Given the description of an element on the screen output the (x, y) to click on. 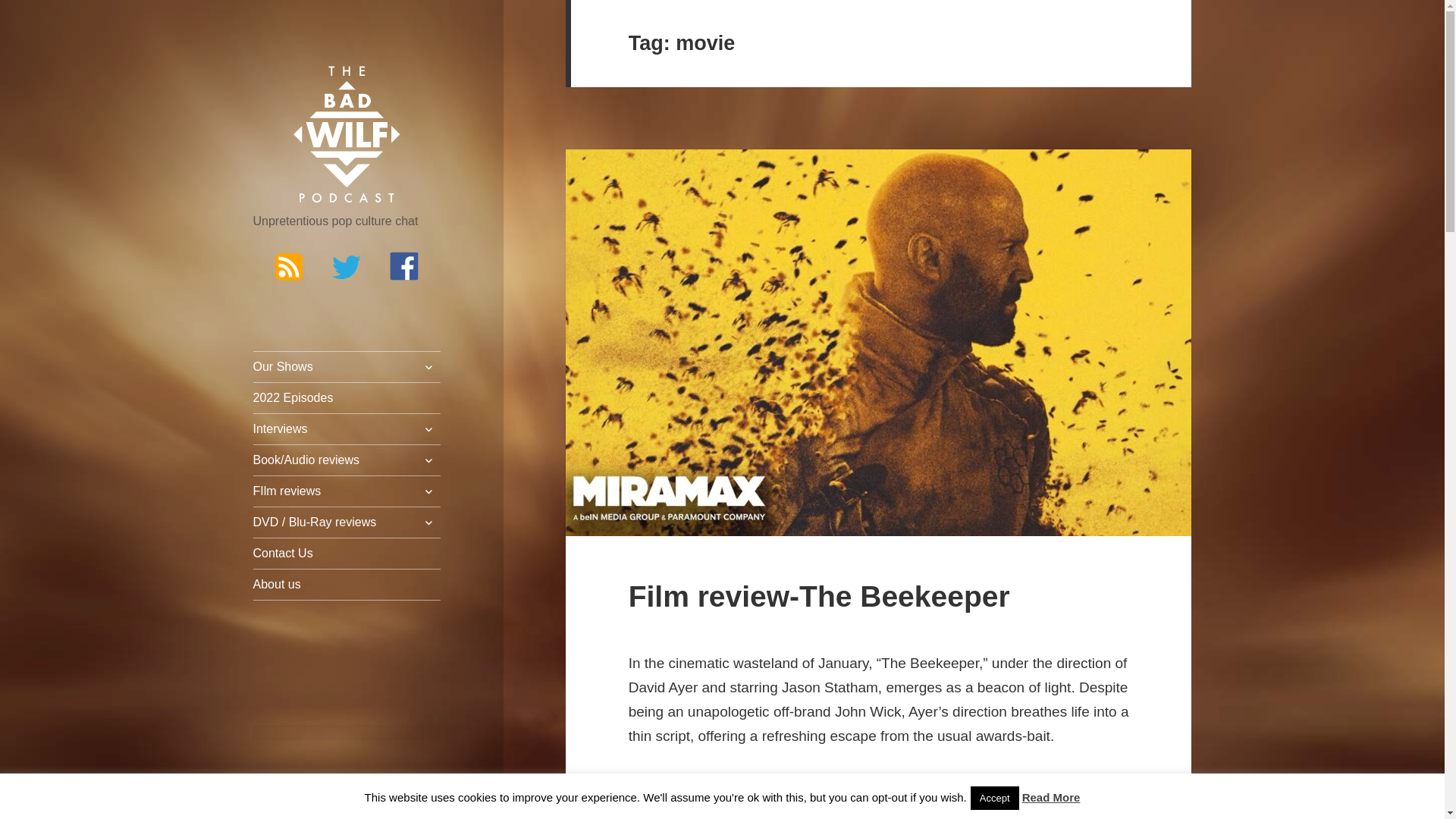
2022 Episodes (347, 398)
Interviews (347, 429)
Subscribe to the Podcast (288, 265)
expand child menu (428, 428)
The Bad Wilf Network (347, 134)
Our Shows (347, 367)
expand child menu (428, 366)
Bad Wilf Facebook Page (404, 265)
